Given the description of an element on the screen output the (x, y) to click on. 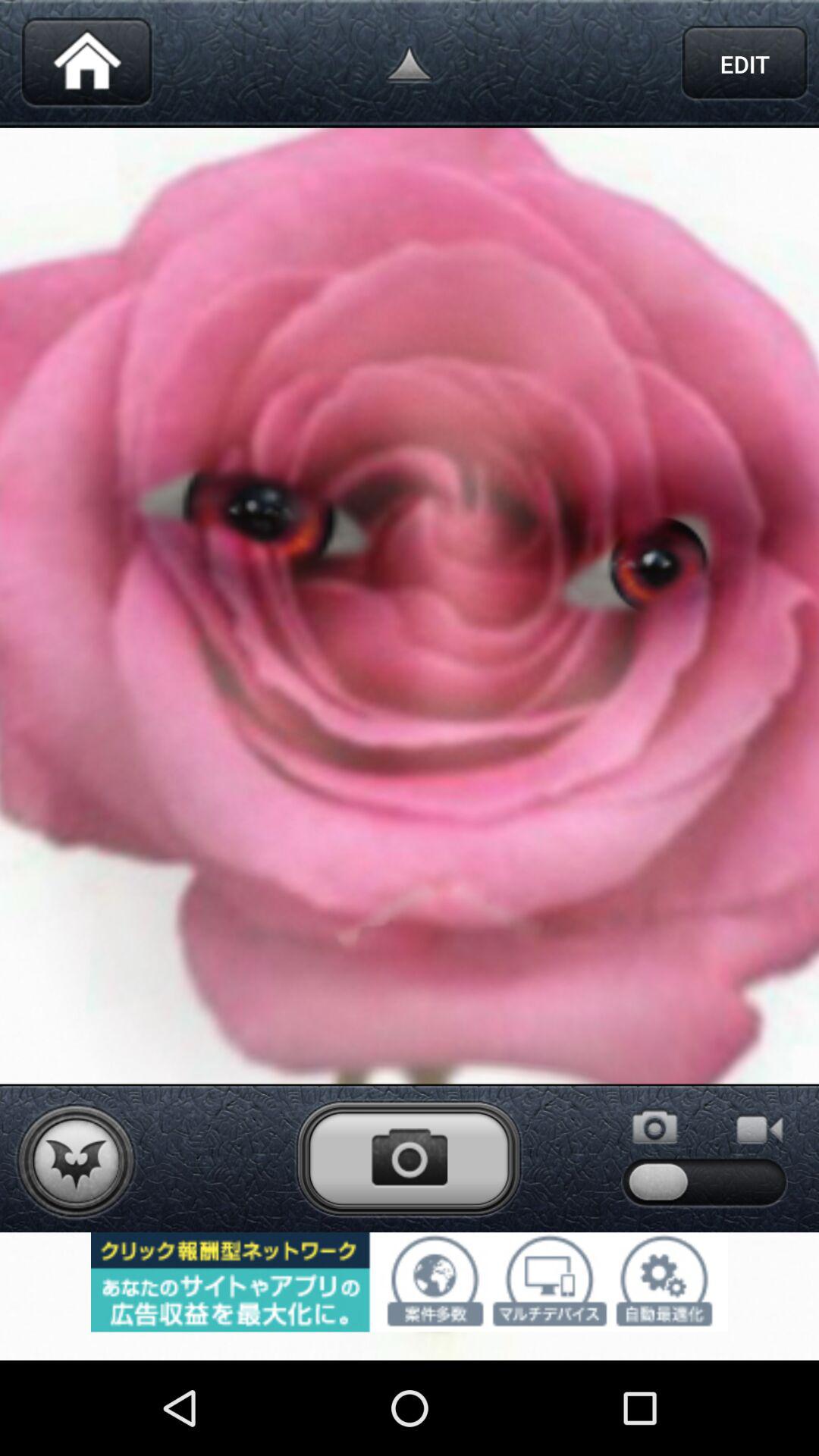
camera (409, 1157)
